Given the description of an element on the screen output the (x, y) to click on. 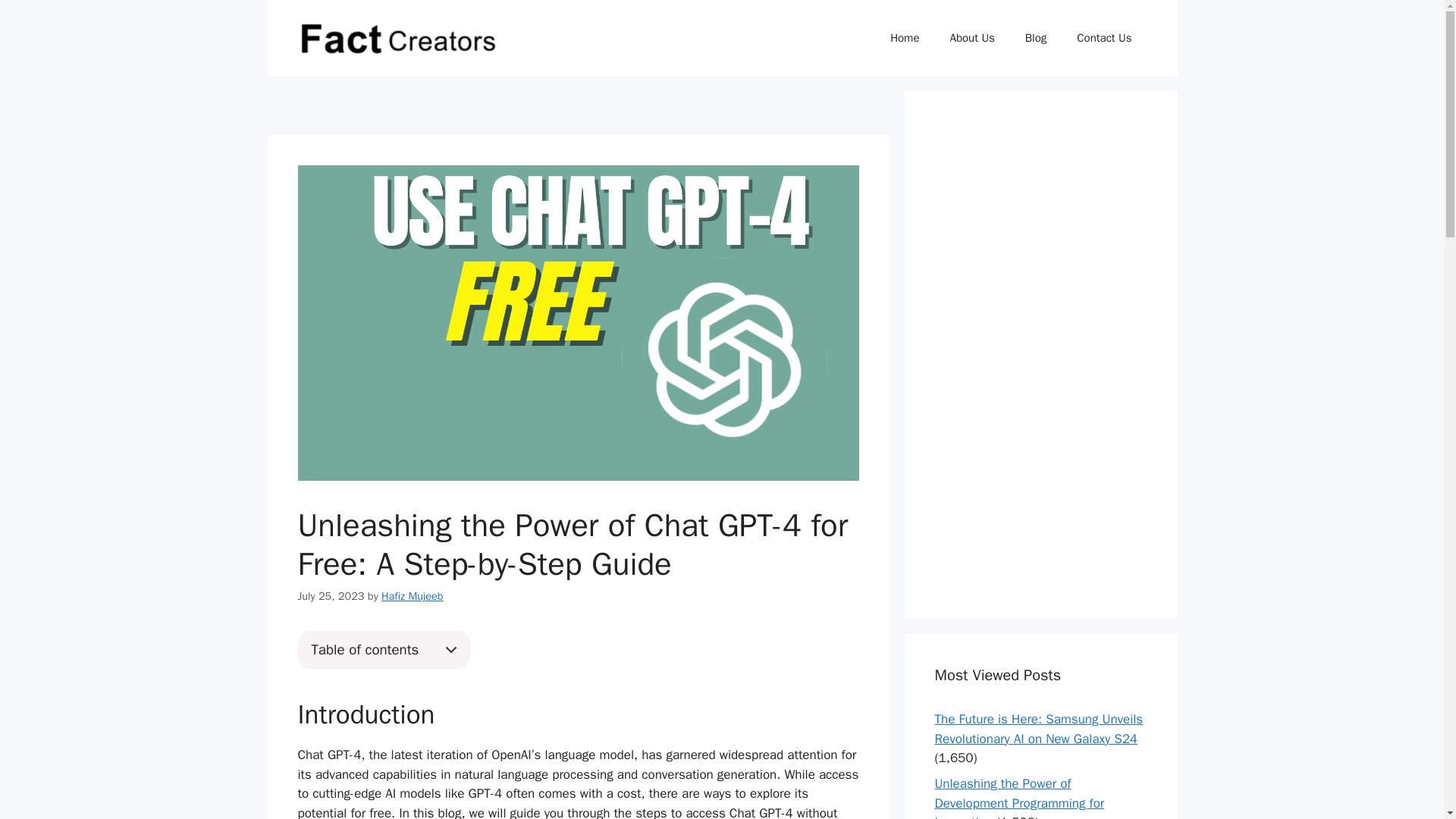
View all posts by Hafiz Mujeeb (412, 595)
Blog (1035, 37)
About Us (971, 37)
Contact Us (1104, 37)
Home (904, 37)
Hafiz Mujeeb (412, 595)
